Given the description of an element on the screen output the (x, y) to click on. 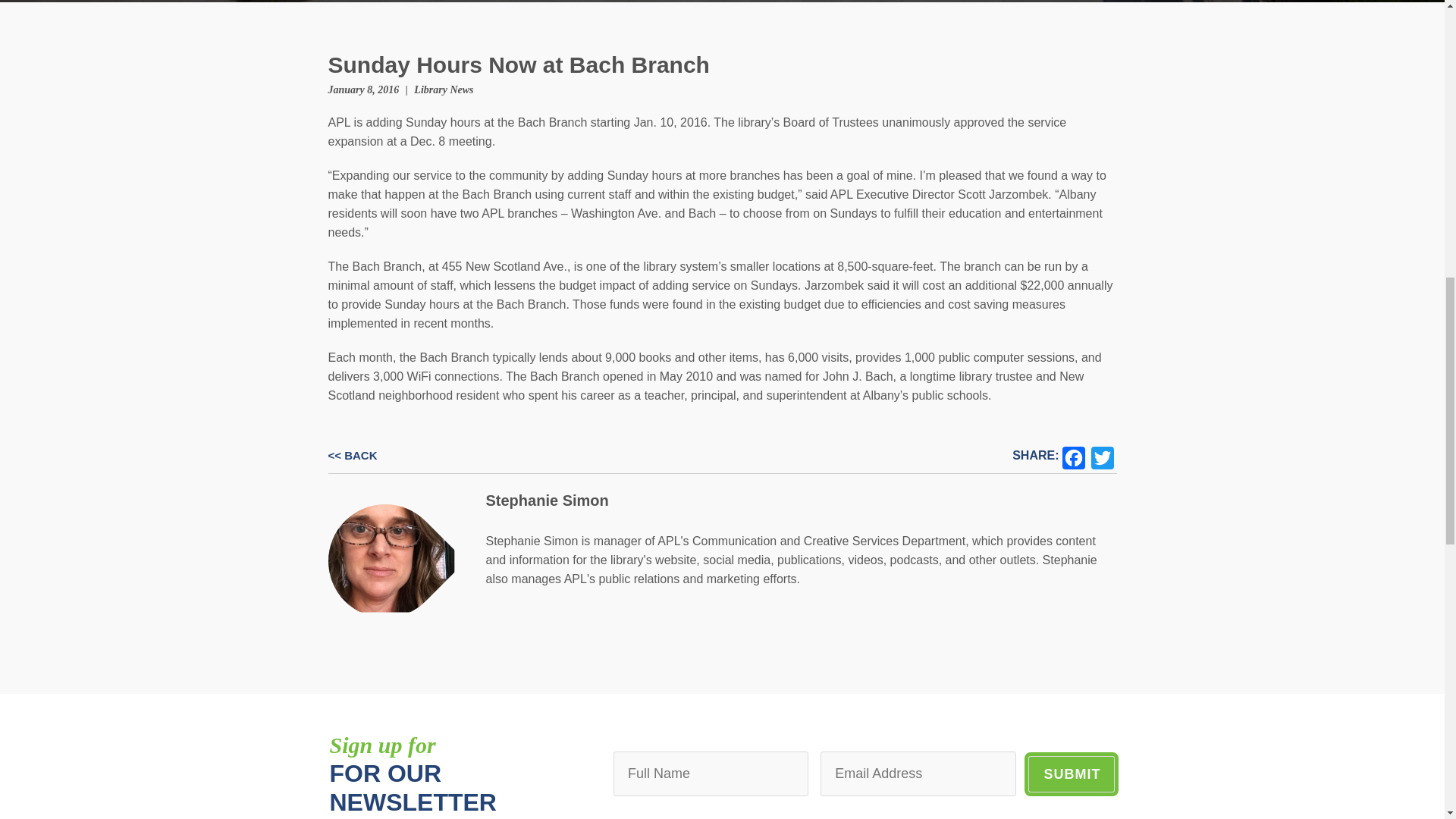
SUBMIT (1071, 773)
Facebook (1072, 456)
Twitter (1101, 456)
